Given the description of an element on the screen output the (x, y) to click on. 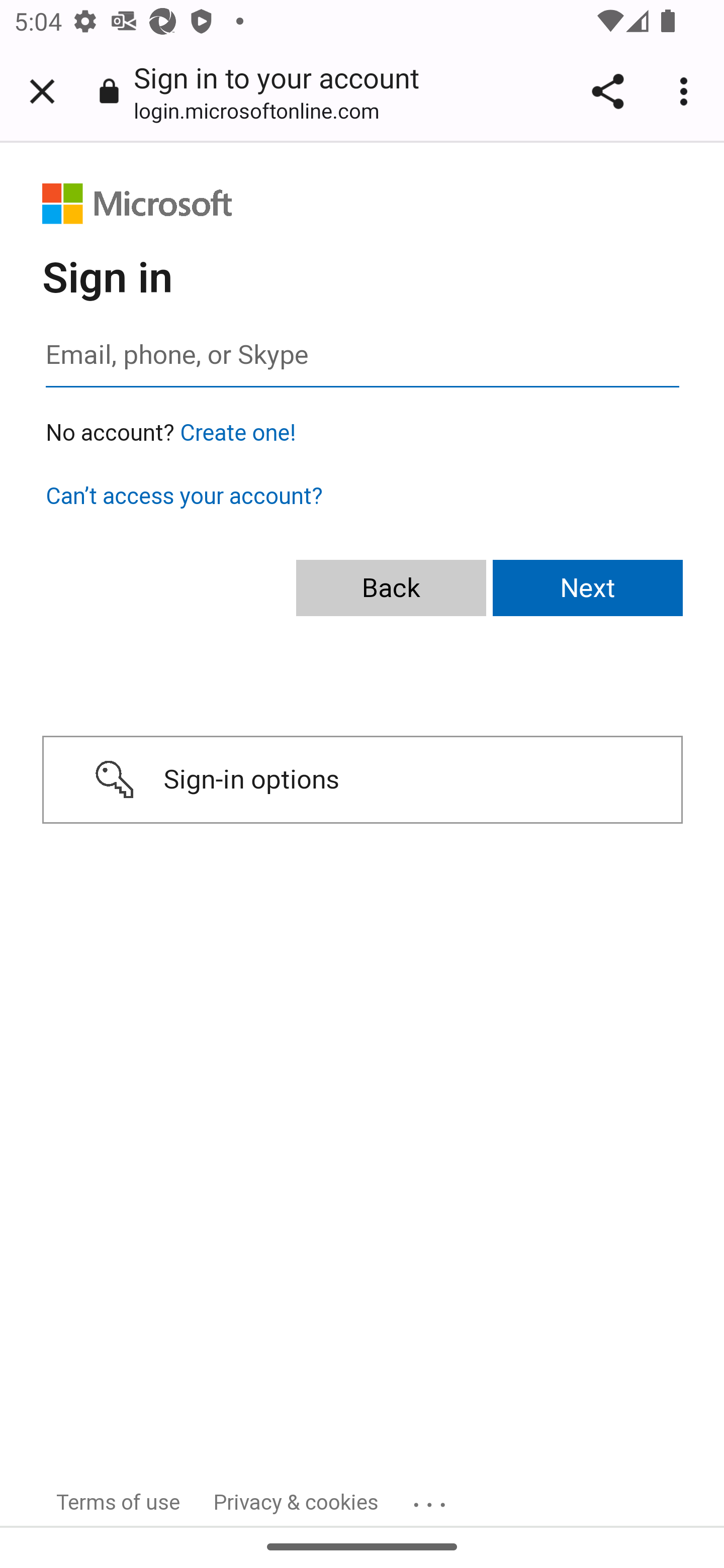
Close tab (42, 91)
Share (607, 91)
More options (687, 91)
Connection is secure (108, 90)
login.microsoftonline.com (263, 109)
Create a Microsoft account Create one! (237, 432)
Can’t access your account? (184, 495)
Back (391, 588)
Next (588, 588)
Sign-in options (361, 779)
Terms of use (118, 1502)
Privacy & cookies (296, 1502)
Click here for troubleshooting information (432, 1497)
